Given the description of an element on the screen output the (x, y) to click on. 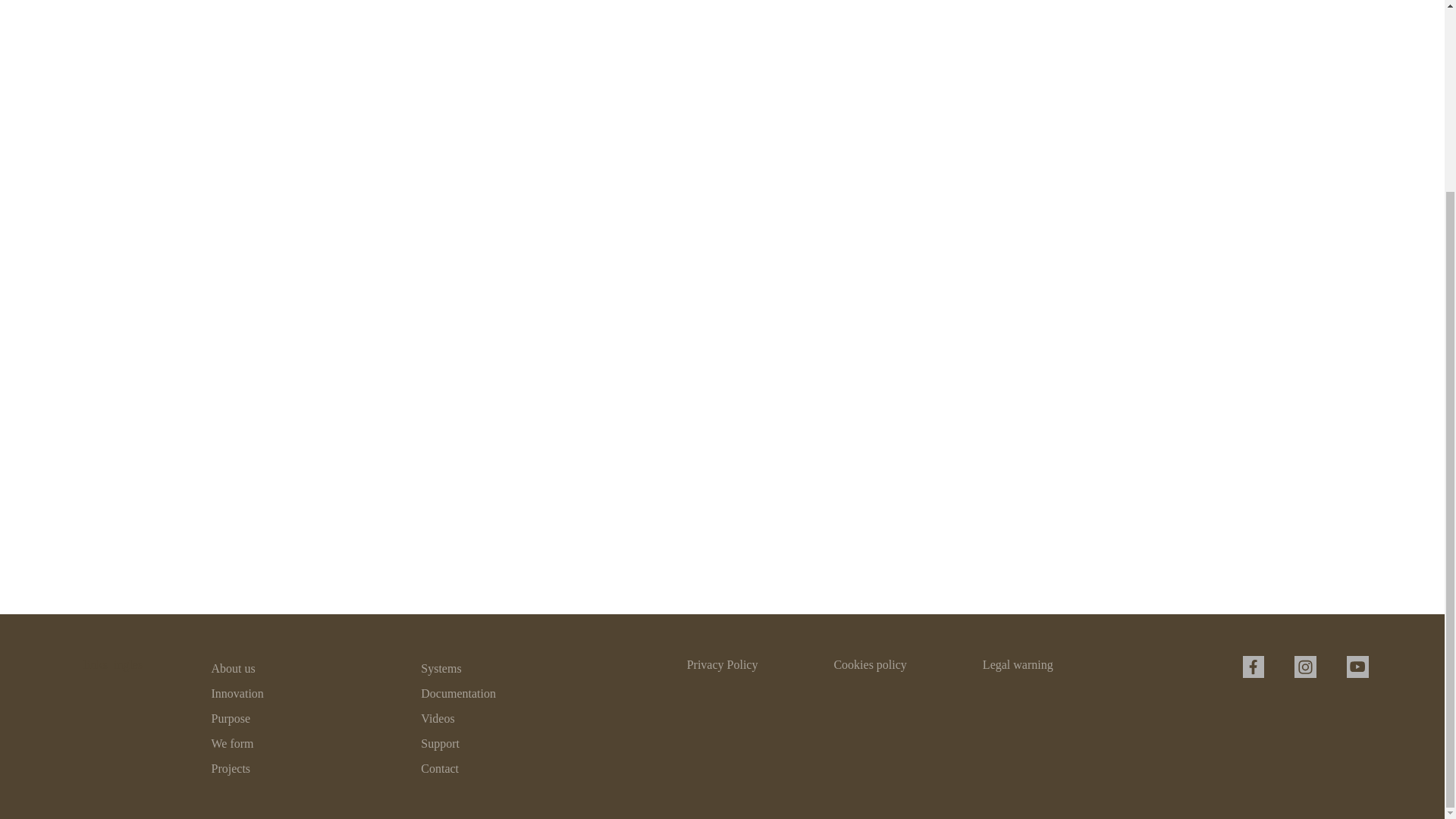
Support (440, 743)
Innovation (237, 693)
We form (232, 743)
About us (232, 667)
Systems (440, 667)
Videos (437, 717)
Documentation (458, 693)
Purpose (230, 717)
